Given the description of an element on the screen output the (x, y) to click on. 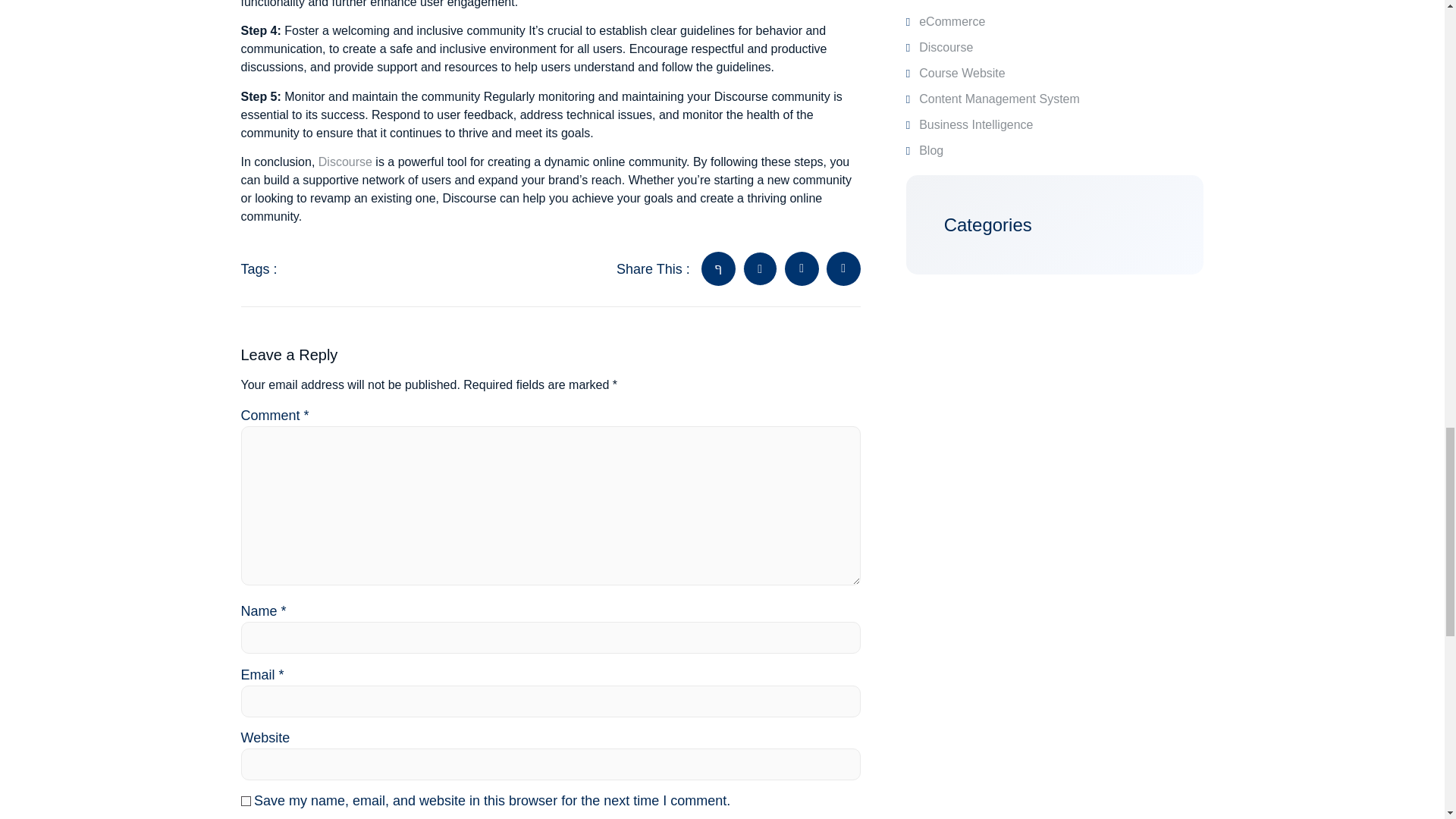
Discourse (345, 161)
